Given the description of an element on the screen output the (x, y) to click on. 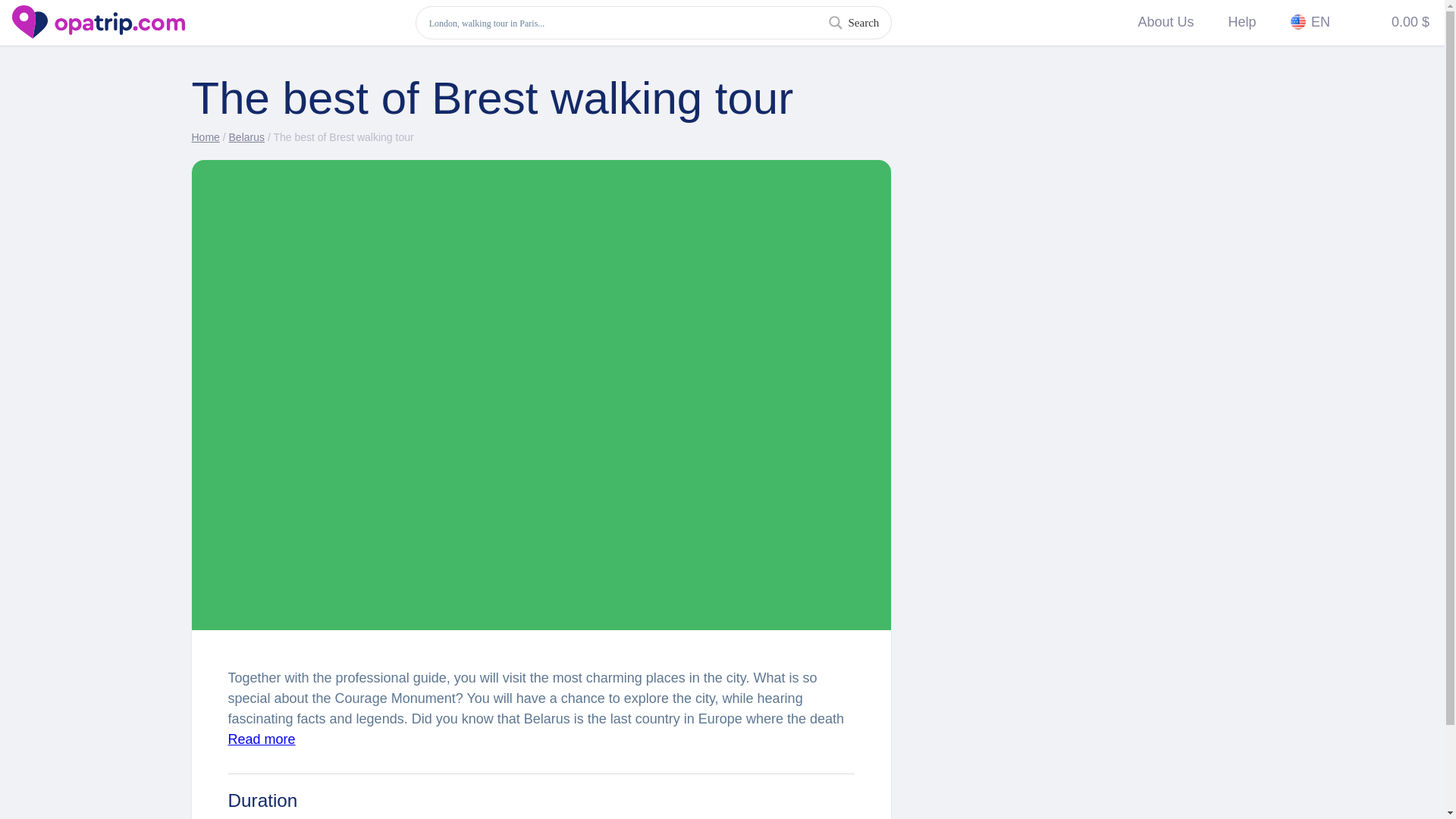
EN (1310, 22)
Help (1241, 22)
Home (204, 137)
Belarus (246, 137)
Read more (261, 739)
About Us (1165, 22)
English (1298, 21)
